Given the description of an element on the screen output the (x, y) to click on. 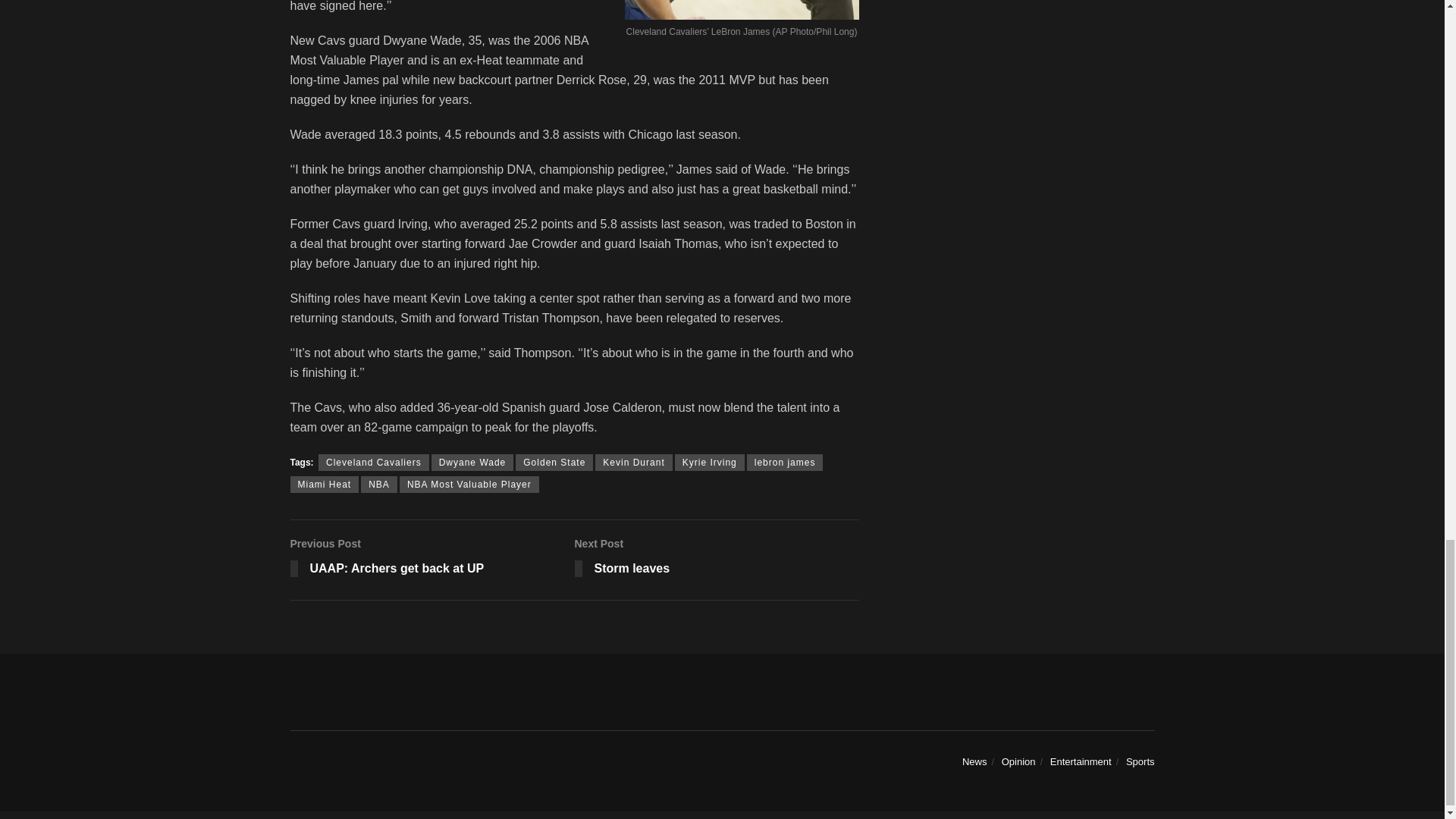
Kevin Durant (633, 462)
Kyrie Irving (431, 559)
Cleveland Cavaliers (709, 462)
NBA (373, 462)
lebron james (379, 484)
Golden State (785, 462)
NBA Most Valuable Player (553, 462)
Miami Heat (468, 484)
